Given the description of an element on the screen output the (x, y) to click on. 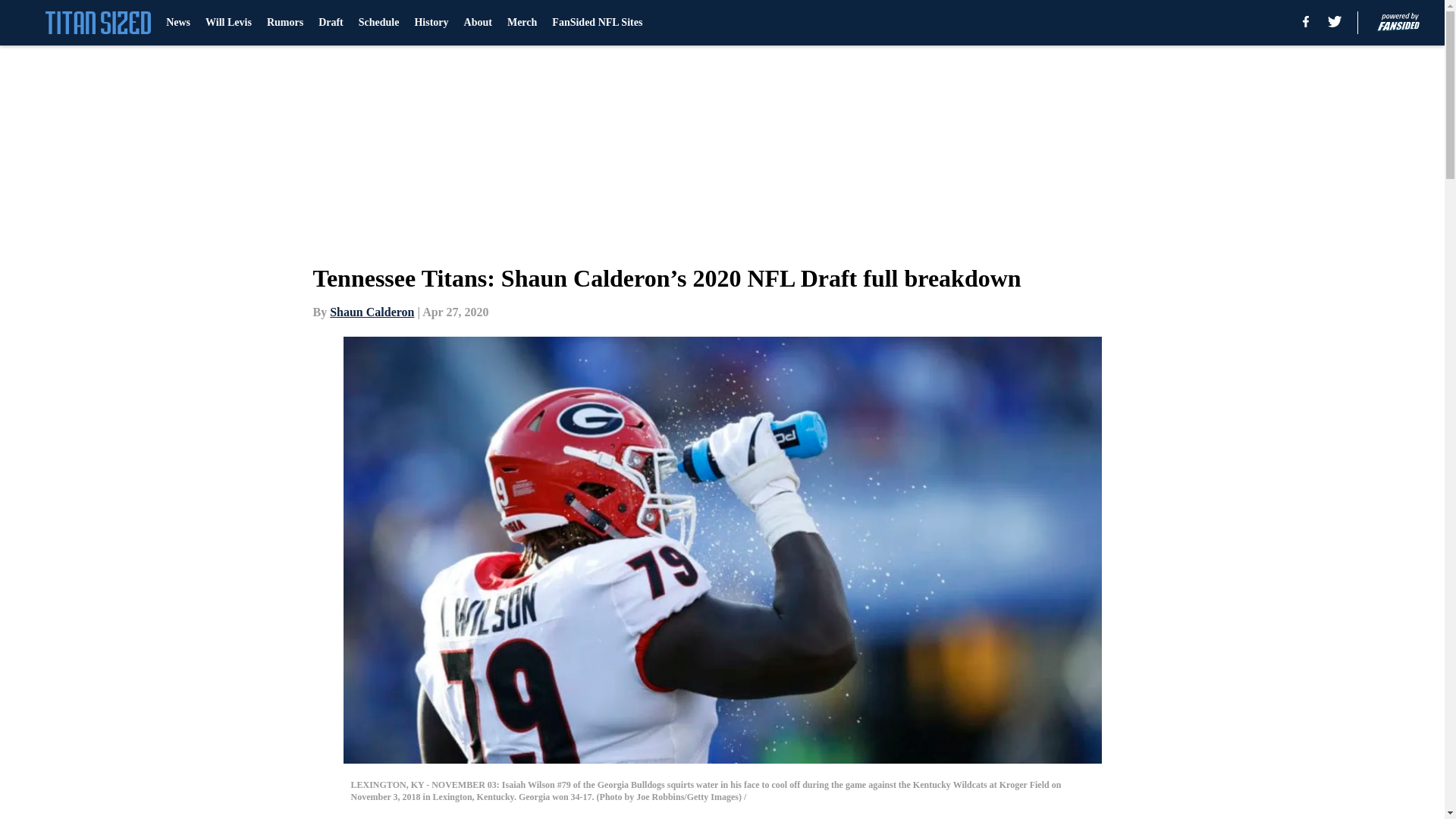
Will Levis (228, 22)
Shaun Calderon (371, 311)
History (430, 22)
News (177, 22)
Schedule (378, 22)
About (478, 22)
Draft (330, 22)
FanSided NFL Sites (596, 22)
Rumors (284, 22)
Merch (521, 22)
